Given the description of an element on the screen output the (x, y) to click on. 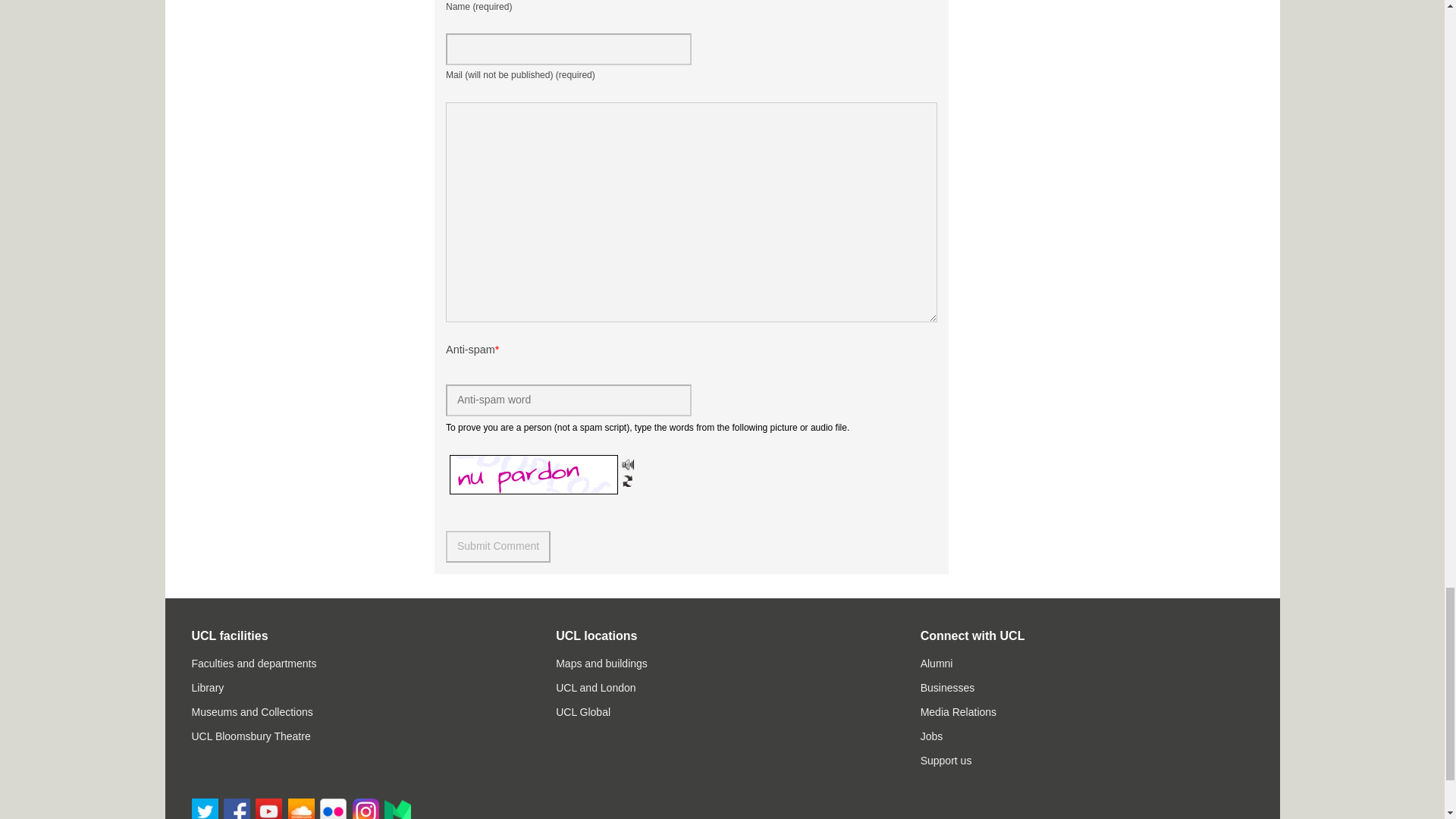
Submit Comment (497, 546)
Load new (627, 480)
UCL Bloomsbury Theatre (250, 736)
Museums and Collections (251, 711)
Maps and buildings (601, 663)
Submit Comment (497, 546)
Listen (627, 464)
Faculties and departments (252, 663)
Library (207, 687)
